Given the description of an element on the screen output the (x, y) to click on. 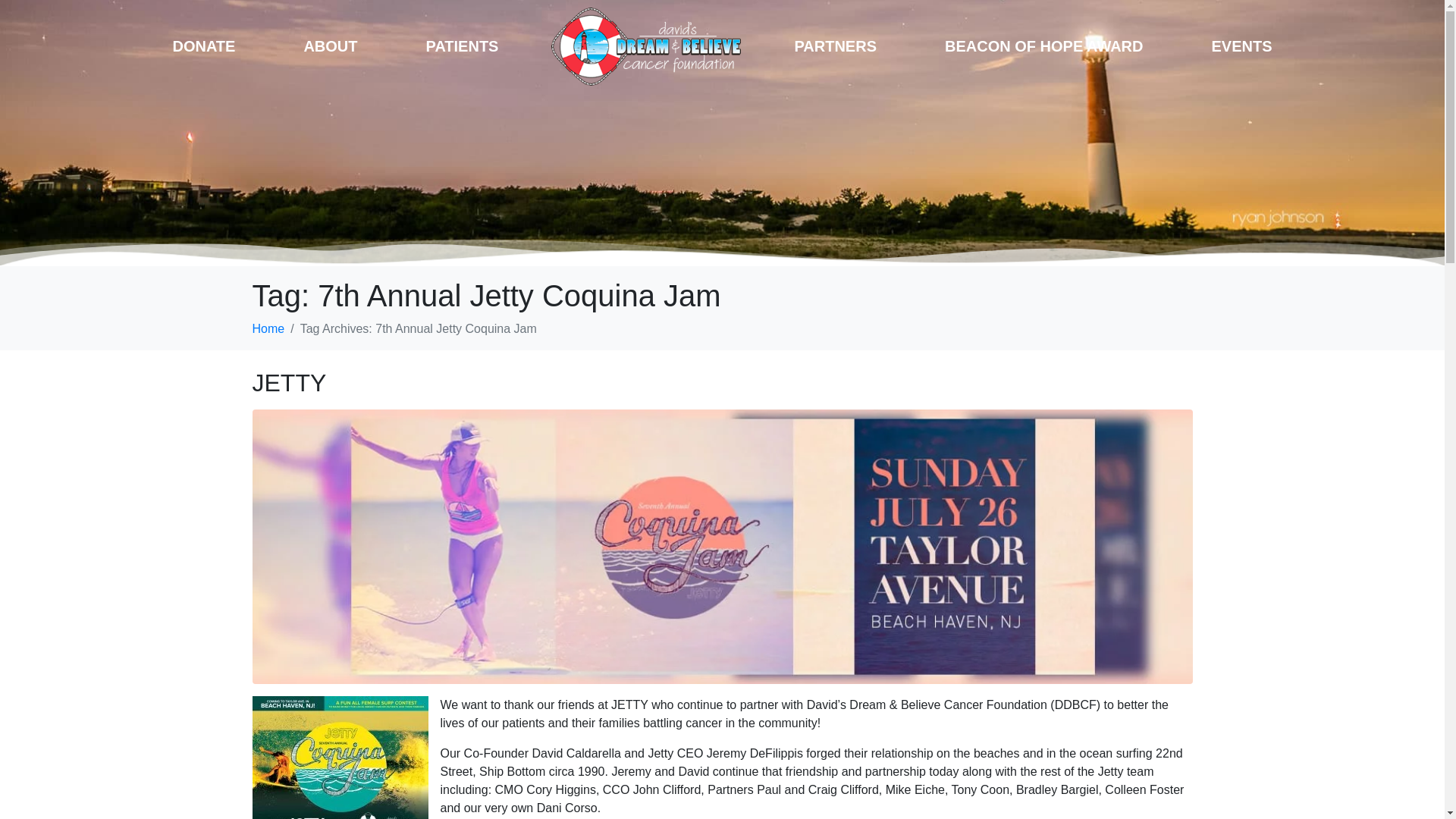
JETTY (288, 382)
JETTY (721, 545)
BEACON OF HOPE AWARD (1044, 46)
DONATE (203, 46)
EVENTS (1241, 46)
ABOUT (330, 46)
PATIENTS (461, 46)
PARTNERS (834, 46)
